Given the description of an element on the screen output the (x, y) to click on. 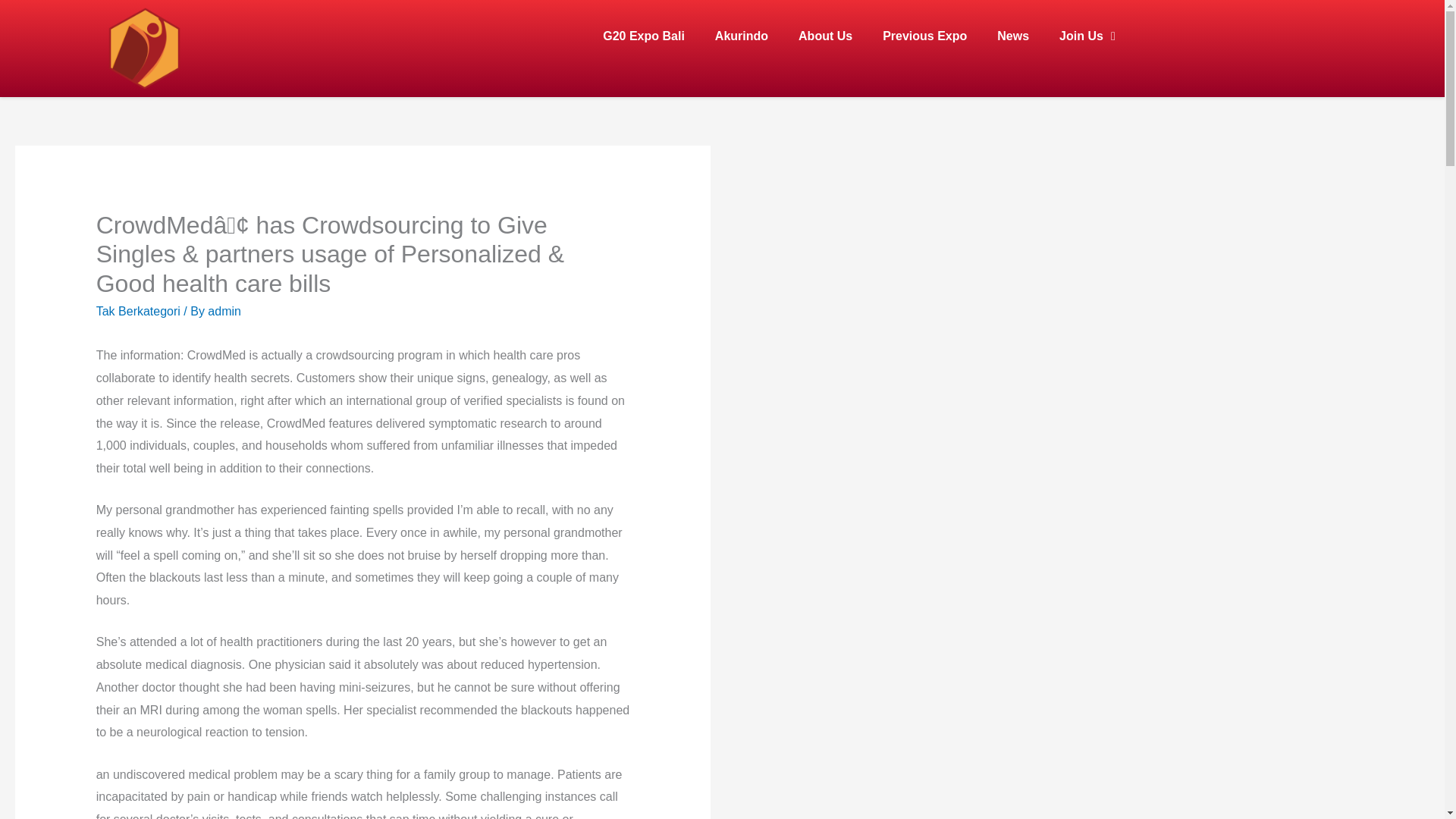
Tak Berkategori (138, 310)
admin (224, 310)
View all posts by admin (224, 310)
